Given the description of an element on the screen output the (x, y) to click on. 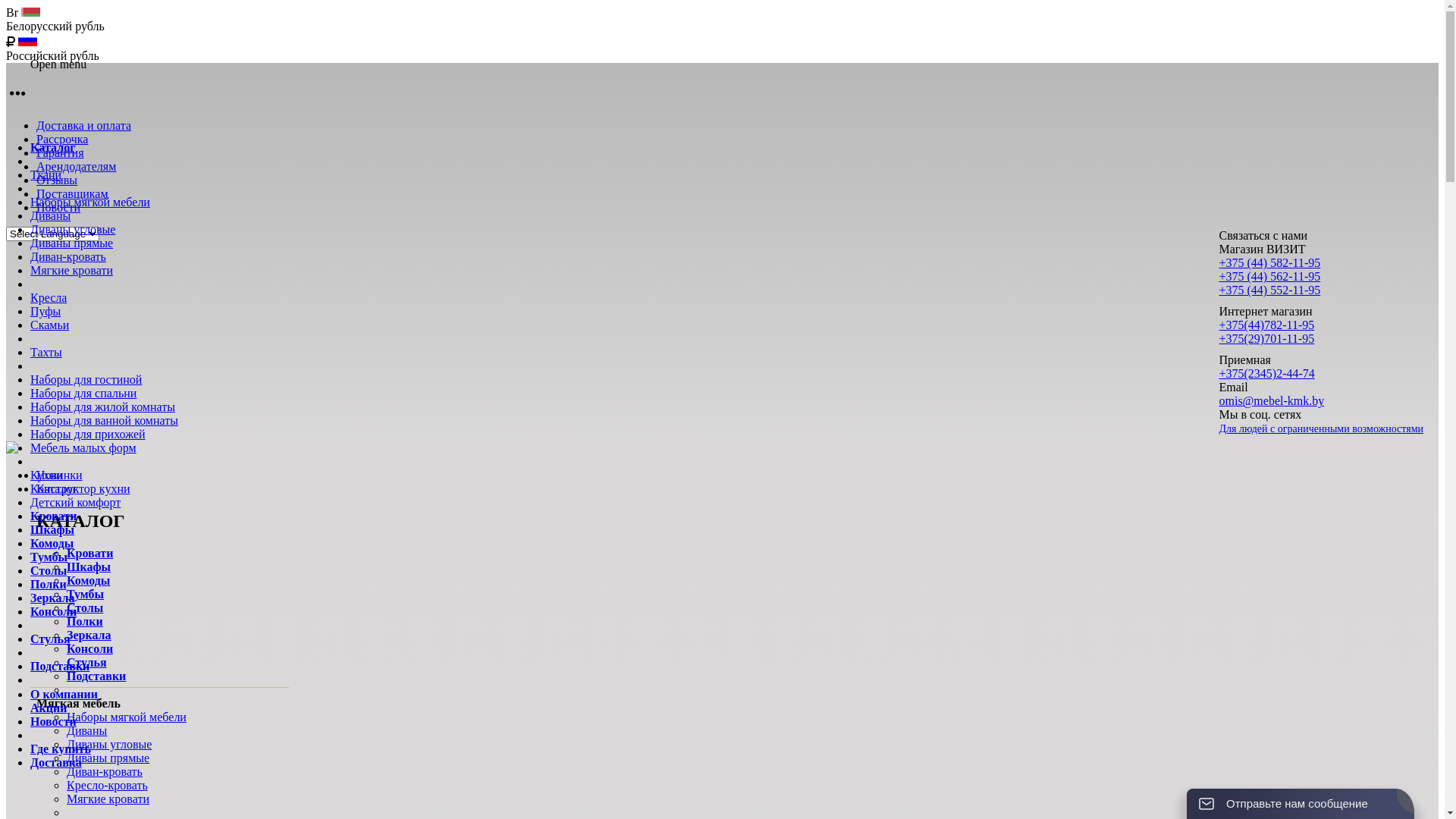
+375(29)701-11-95 Element type: text (1266, 338)
+375 (44) 552-11-95 Element type: text (1270, 289)
Skip to content Element type: text (5, 118)
+375(2345)2-44-74 Element type: text (1266, 373)
rus Element type: text (19, 41)
+375 (44) 562-11-95 Element type: text (1270, 275)
+375(44)782-11-95 Element type: text (1266, 324)
byn Element type: text (20, 13)
omis@mebel-kmk.by Element type: text (1271, 400)
+375 (44) 582-11-95 Element type: text (1270, 262)
